Given the description of an element on the screen output the (x, y) to click on. 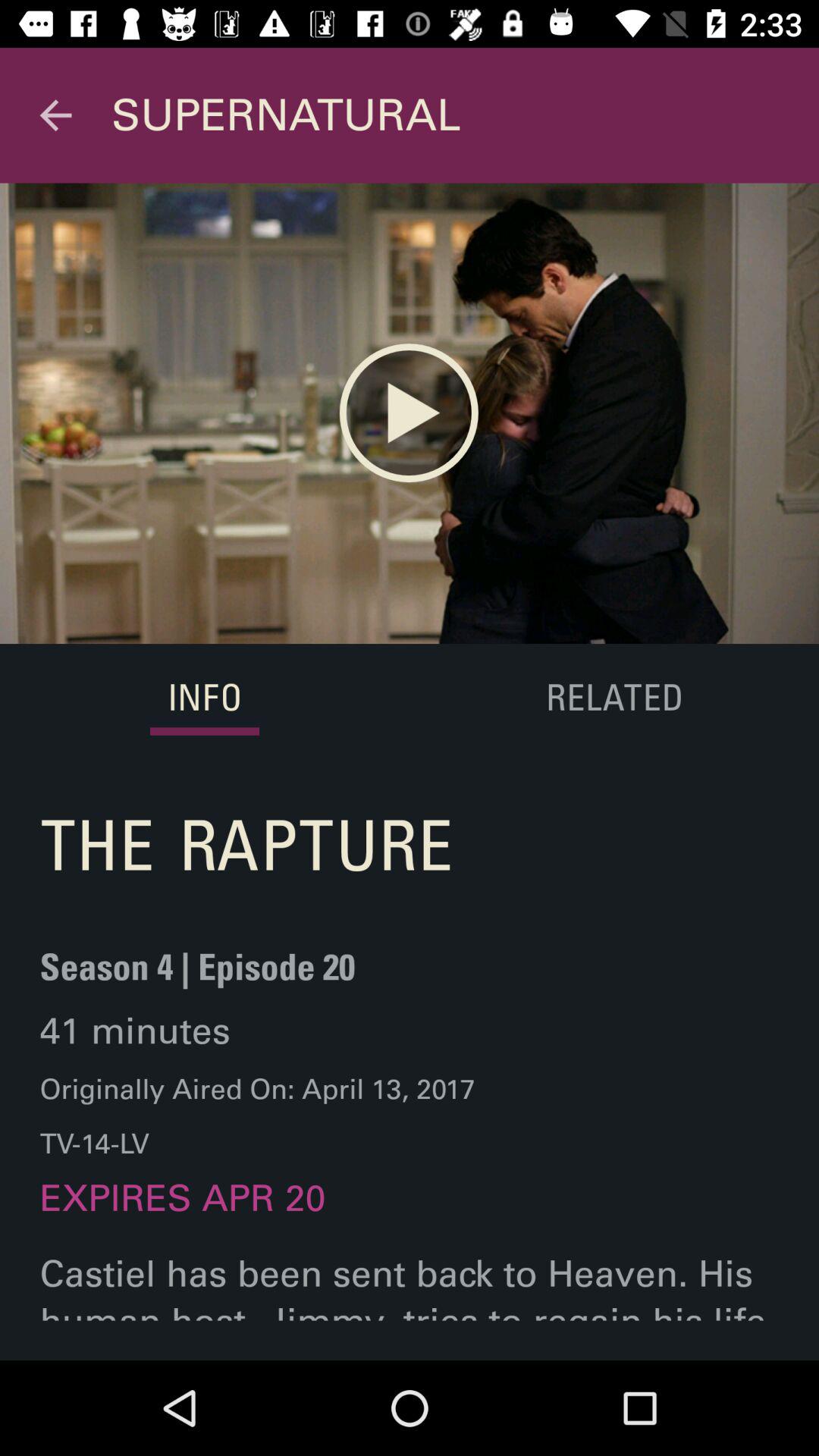
open icon to the left of supernatural item (55, 115)
